Given the description of an element on the screen output the (x, y) to click on. 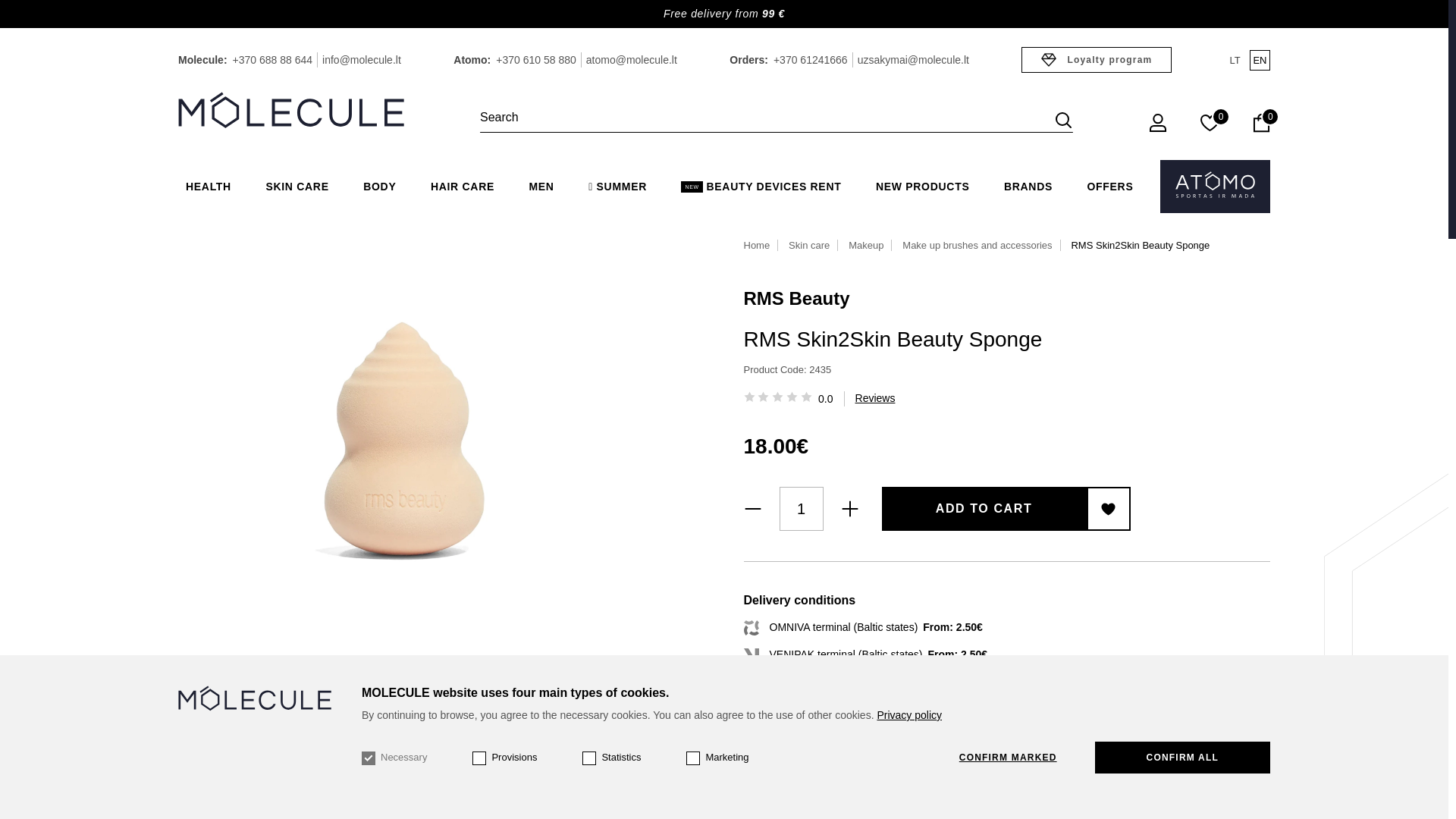
1 (801, 508)
Loyalty program (1097, 59)
EN (1259, 59)
Loyalty program (1097, 59)
Molecule (290, 109)
lt (1234, 59)
en (1259, 59)
Molecule (290, 111)
LT (1234, 59)
0 (1209, 126)
HEALTH (207, 186)
